Given the description of an element on the screen output the (x, y) to click on. 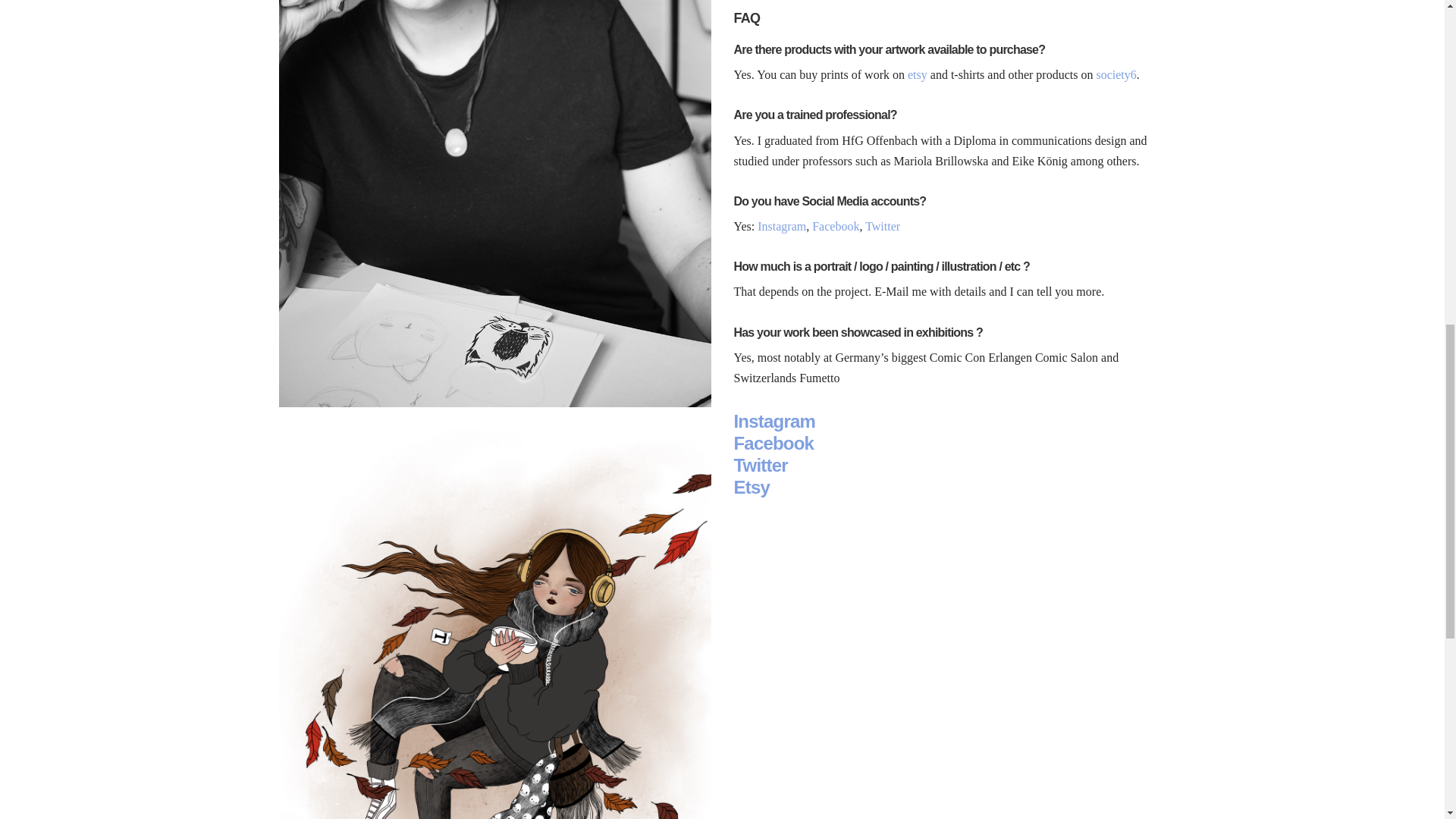
society6 (1115, 74)
Twitter (760, 465)
Instagram (781, 226)
Facebook (773, 443)
etsy (917, 74)
Twitter (881, 226)
Etsy (751, 486)
Facebook (835, 226)
Instagram (774, 421)
